Given the description of an element on the screen output the (x, y) to click on. 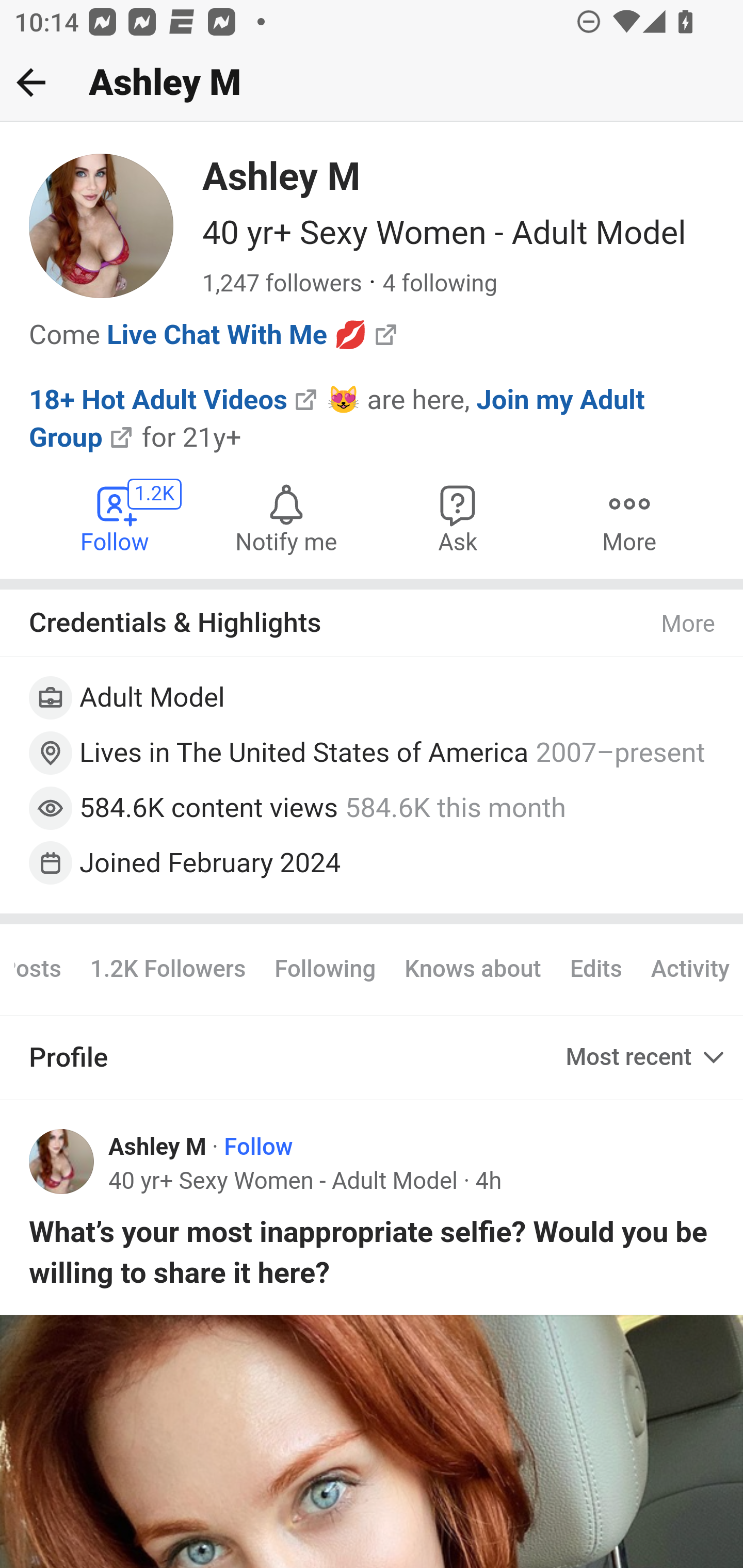
Me Home Search Add (371, 82)
Back Ashley M (371, 82)
1,247 followers (282, 284)
4 following (439, 284)
Live Chat With Me 💋 (237, 333)
18+ Hot Adult Videos (158, 398)
Join my Adult Group (337, 417)
Follow Ashley M 1.2K Follow (115, 517)
Notify me (285, 517)
Ask (458, 517)
More (628, 517)
More (688, 623)
2 Posts (44, 970)
1.2K Followers (167, 970)
Following (325, 970)
Knows about (473, 970)
Edits (595, 970)
Activity (689, 970)
Most recent (647, 1057)
Profile photo for Ashley M (61, 1160)
Ashley M (157, 1147)
Follow (258, 1147)
4h 4 h (488, 1180)
4h 4 h (488, 1180)
